Given the description of an element on the screen output the (x, y) to click on. 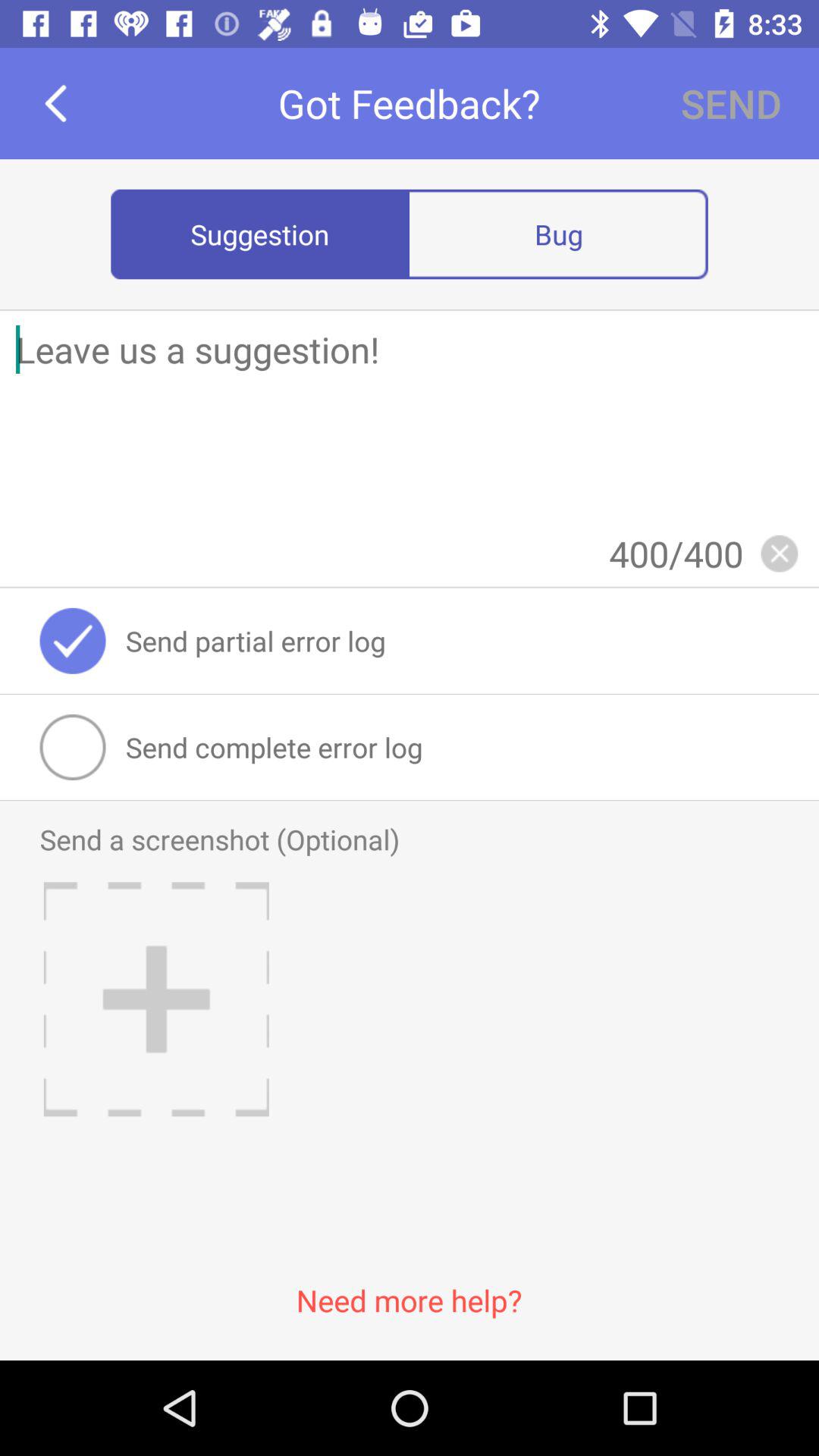
tap the icon next to 400/400 item (779, 553)
